Given the description of an element on the screen output the (x, y) to click on. 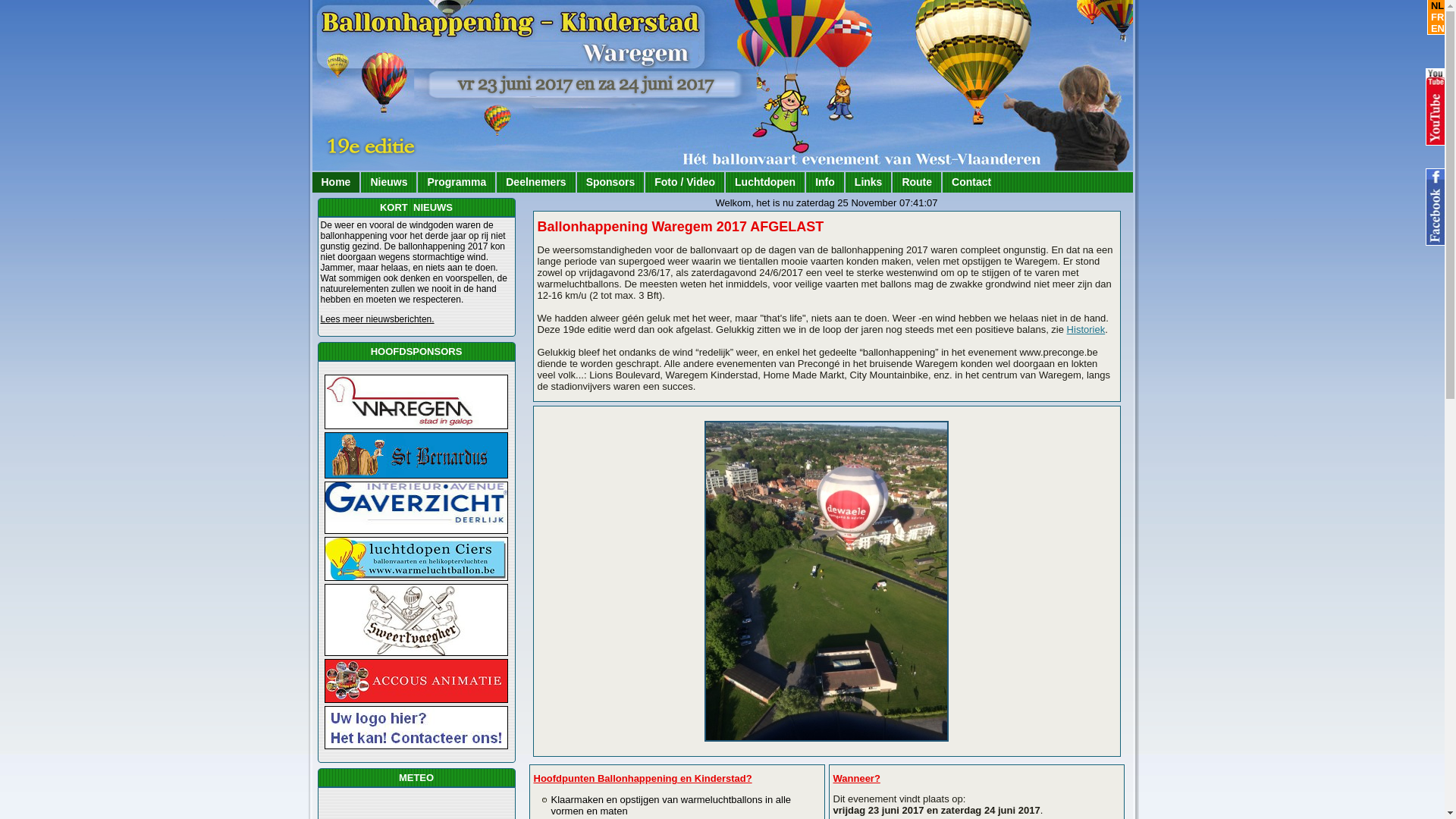
Luchtdopen Element type: text (764, 182)
Lees meer nieuwsberichten. Element type: text (376, 318)
 FR Element type: text (1435, 16)
 EN Element type: text (1435, 28)
acous animatie Element type: hover (416, 680)
Historiek Element type: text (1085, 329)
Filmpjes op ons YouTube-kanaal Element type: hover (1435, 106)
sint bernardus bier Element type: hover (416, 455)
Home Element type: text (336, 182)
Info Element type: text (825, 182)
Finest Belgian Chocolates Element type: hover (416, 619)
Programma Element type: text (456, 182)
Contact Element type: text (971, 182)
Nieuws Element type: text (388, 182)
ballonvaarten West-Vlaanderen Element type: hover (416, 558)
Foto / Video Element type: text (684, 182)
Filmpjes op ons YouTube-kanaal Element type: hover (1435, 206)
sponsoring Waregem Element type: hover (416, 727)
Route Element type: text (916, 182)
Links Element type: text (868, 182)
stad Waregem Element type: hover (416, 401)
Sponsors Element type: text (610, 182)
Deelnemers Element type: text (535, 182)
Gaverzicht Deerlijk Element type: hover (416, 507)
